Given the description of an element on the screen output the (x, y) to click on. 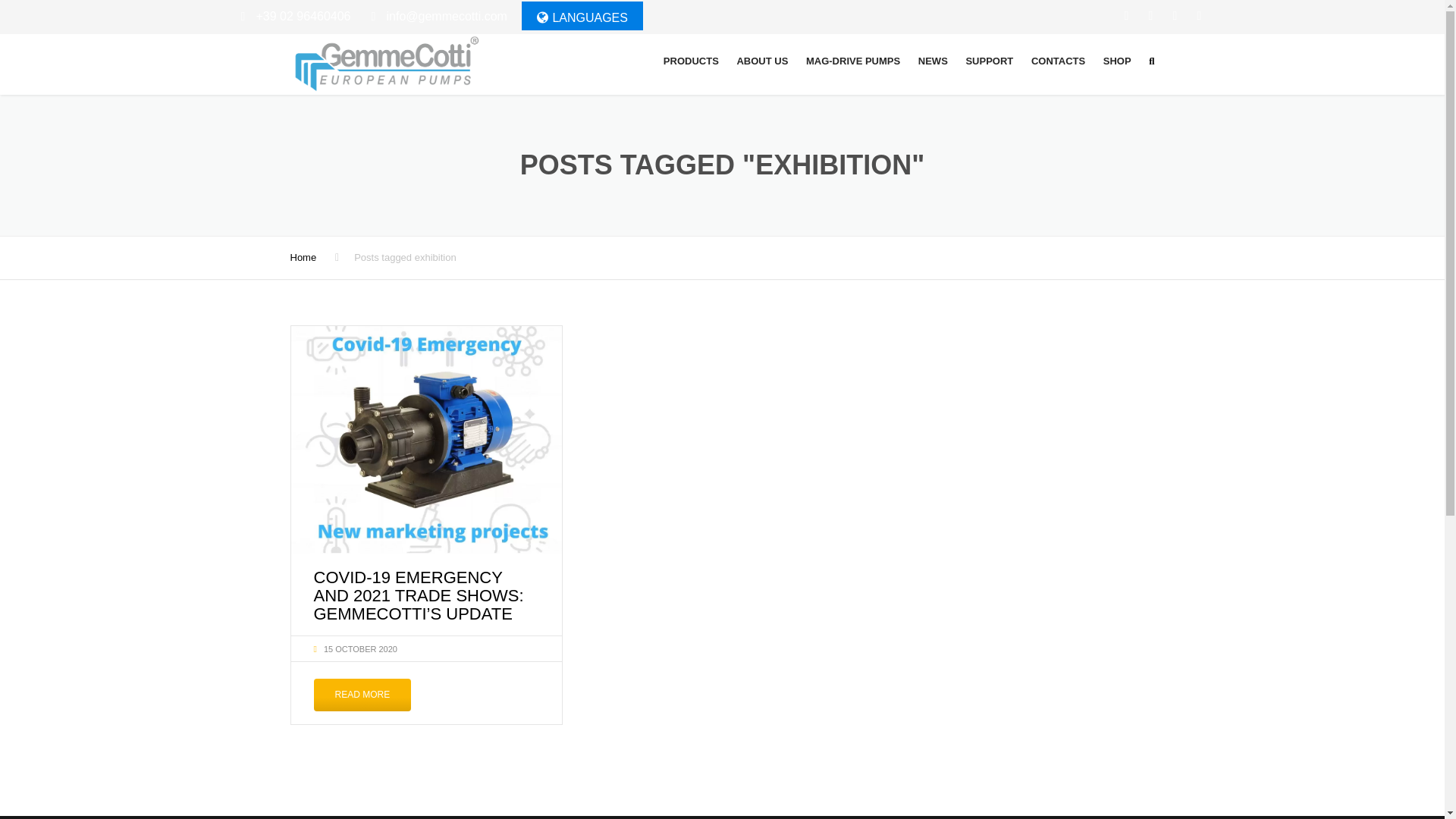
ABOUT US (761, 60)
SUPPORT (989, 60)
LANGUAGES (582, 17)
Home (302, 256)
PRODUCTS (691, 60)
MAG-DRIVE PUMPS (852, 60)
CONTACTS (1058, 60)
